Given the description of an element on the screen output the (x, y) to click on. 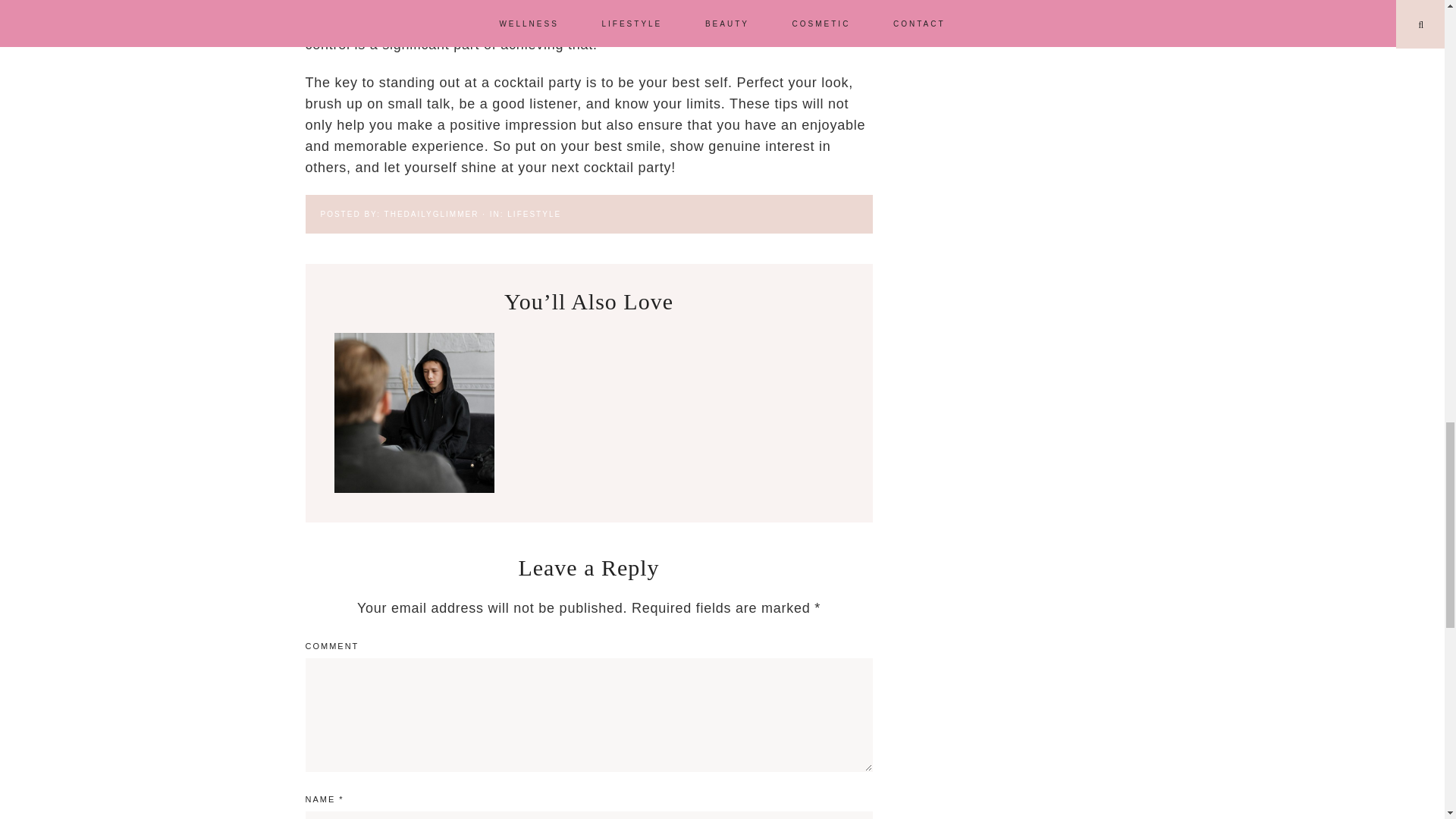
LIFESTYLE (533, 213)
THEDAILYGLIMMER (431, 213)
